Given the description of an element on the screen output the (x, y) to click on. 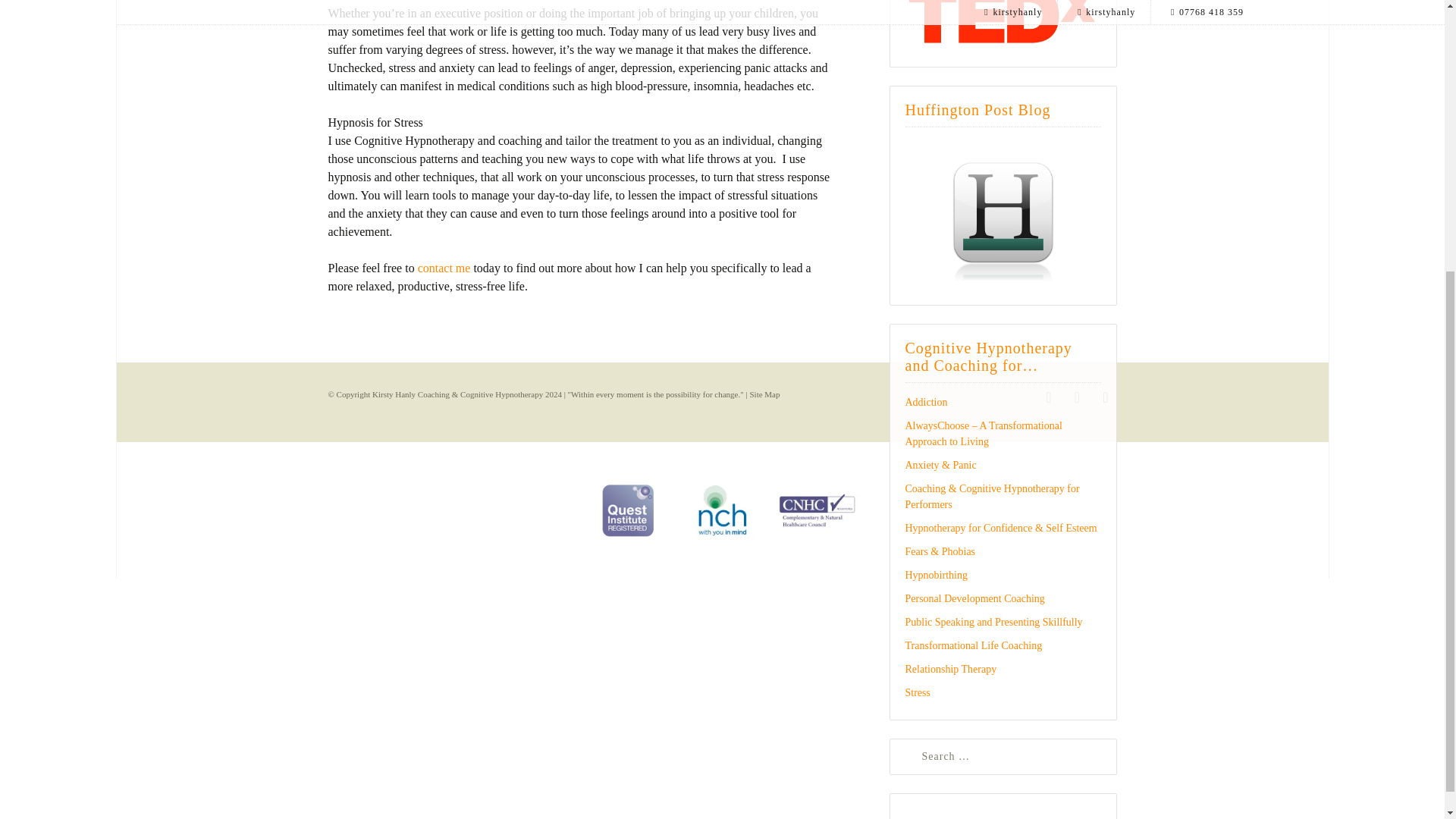
Hypnobirthing (936, 574)
Transformational Life Coaching (973, 645)
07768 418 359 (1104, 397)
Stress (917, 692)
kirstyhanly (1076, 397)
kirstyhanly (1047, 397)
Public Speaking and Presenting Skillfully (994, 622)
Personal Development Coaching (975, 598)
contact me (443, 267)
Site Map (763, 393)
